Given the description of an element on the screen output the (x, y) to click on. 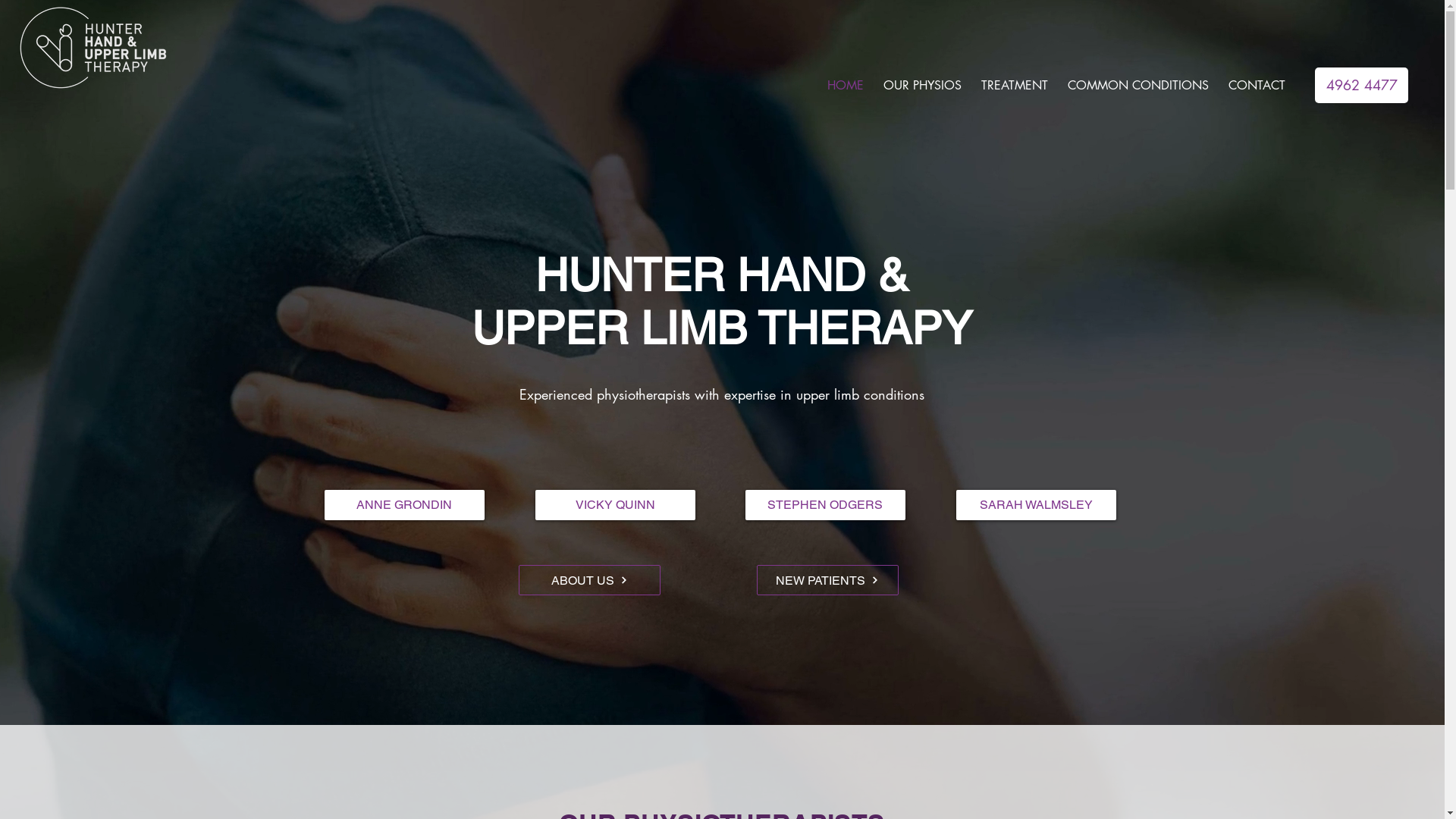
CONTACT Element type: text (1256, 85)
SARAH WALMSLEY Element type: text (1035, 504)
OUR PHYSIOS Element type: text (922, 85)
ANNE GRONDIN Element type: text (404, 504)
NEW PATIENTS Element type: text (827, 579)
4962 4477 Element type: text (1361, 85)
VICKY QUINN Element type: text (615, 504)
COMMON CONDITIONS Element type: text (1137, 85)
TREATMENT Element type: text (1014, 85)
STEPHEN ODGERS Element type: text (824, 504)
HOME Element type: text (845, 85)
ABOUT US Element type: text (589, 579)
